Given the description of an element on the screen output the (x, y) to click on. 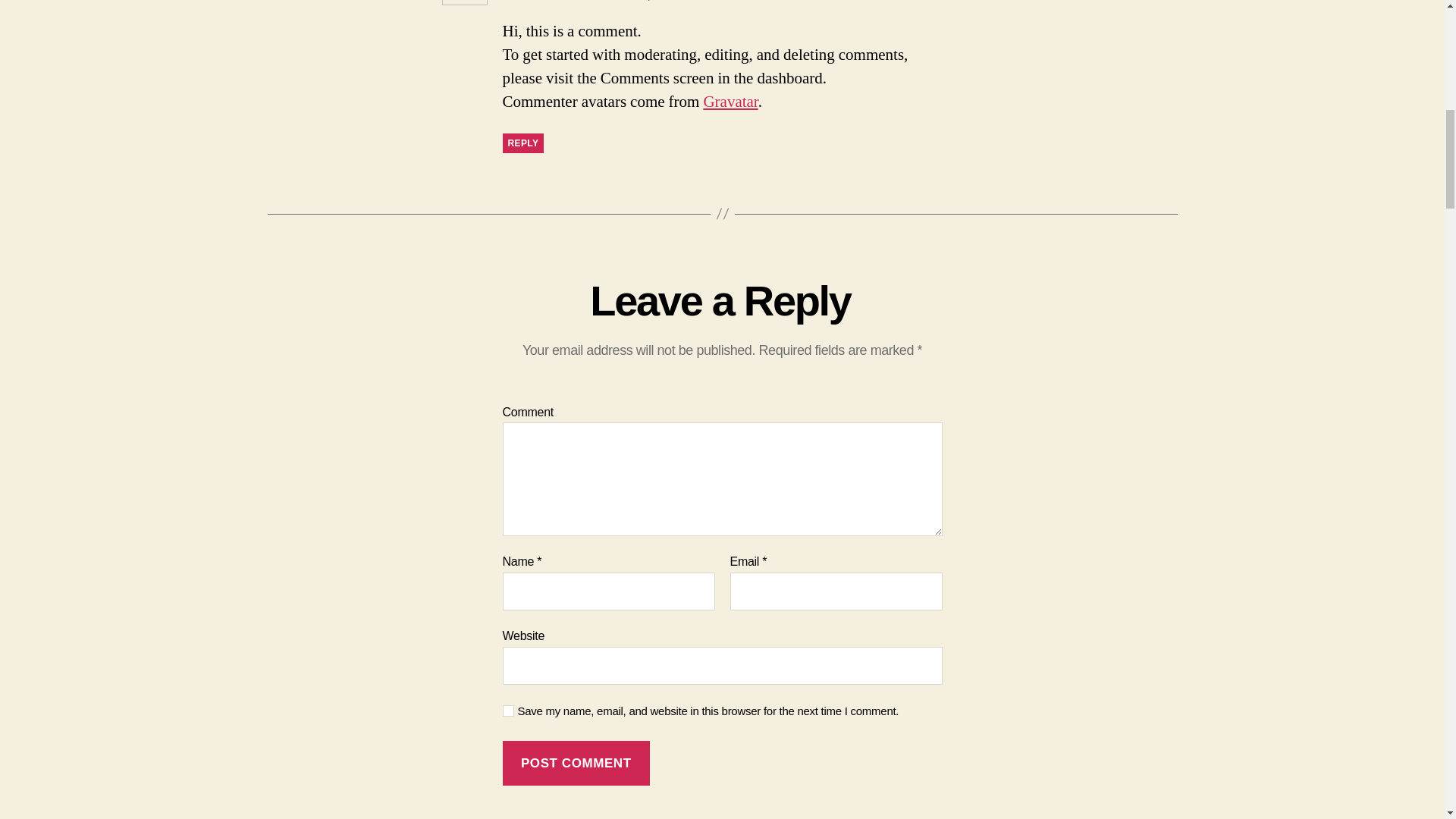
REPLY (522, 143)
Post Comment (575, 763)
REPLY (522, 143)
Gravatar (730, 101)
yes (507, 710)
Post Comment (575, 763)
